Given the description of an element on the screen output the (x, y) to click on. 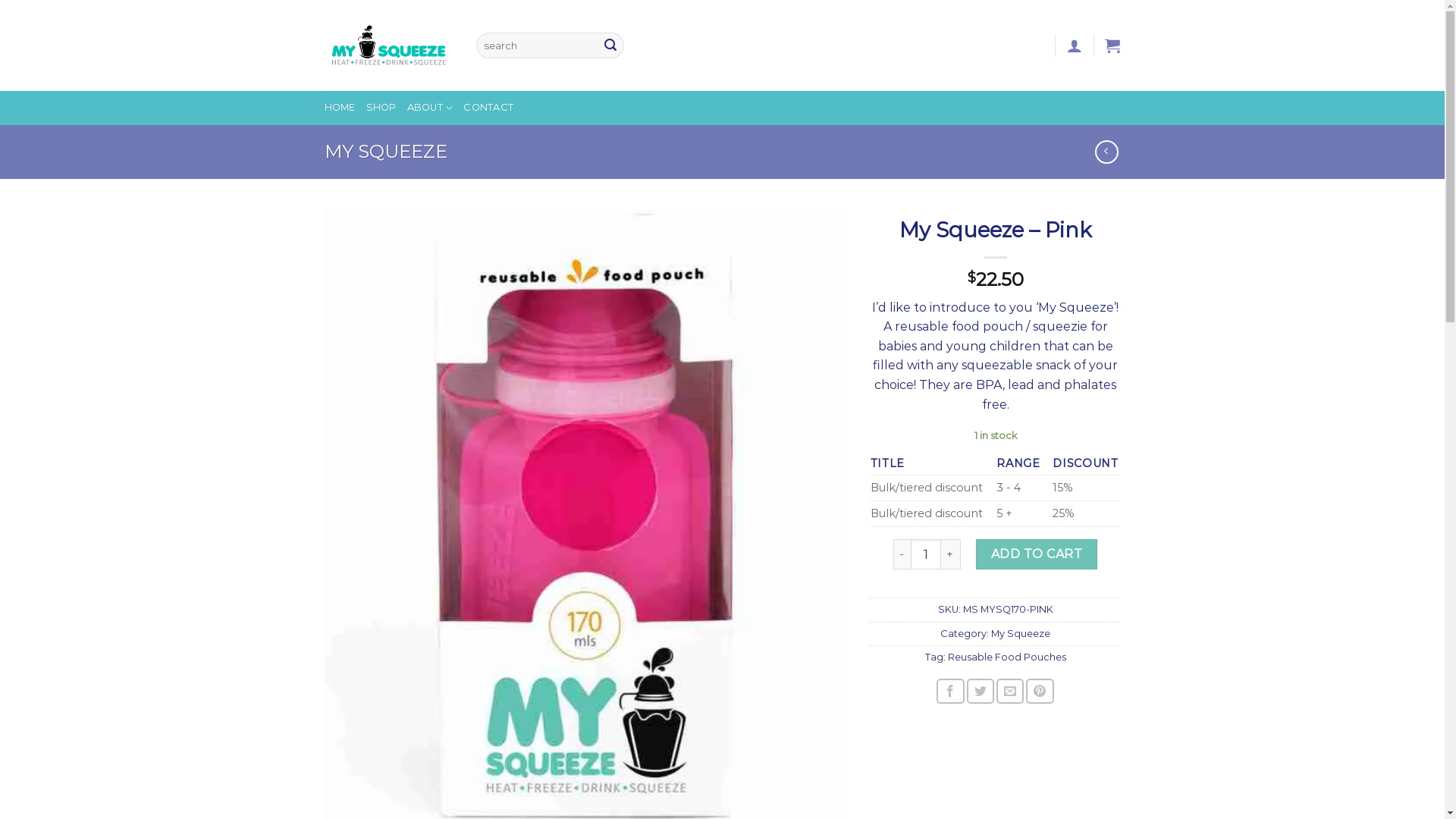
MY SQUEEZE Element type: text (385, 151)
HOME Element type: text (339, 107)
My Squeeze - HEAT | FREEZE | DRINK | SQUEEZE Element type: hover (388, 45)
My Squeeze Element type: text (1020, 633)
Qty Element type: hover (925, 554)
Search Element type: text (610, 45)
CONTACT Element type: text (488, 107)
Share on Twitter Element type: hover (980, 690)
Pin on Pinterest Element type: hover (1039, 690)
Reusable Food Pouches Element type: text (1006, 656)
Email to a Friend Element type: hover (1009, 690)
SHOP Element type: text (381, 107)
Share on Facebook Element type: hover (949, 690)
ABOUT Element type: text (430, 107)
Cart Element type: hover (1112, 45)
ADD TO CART Element type: text (1036, 554)
